Given the description of an element on the screen output the (x, y) to click on. 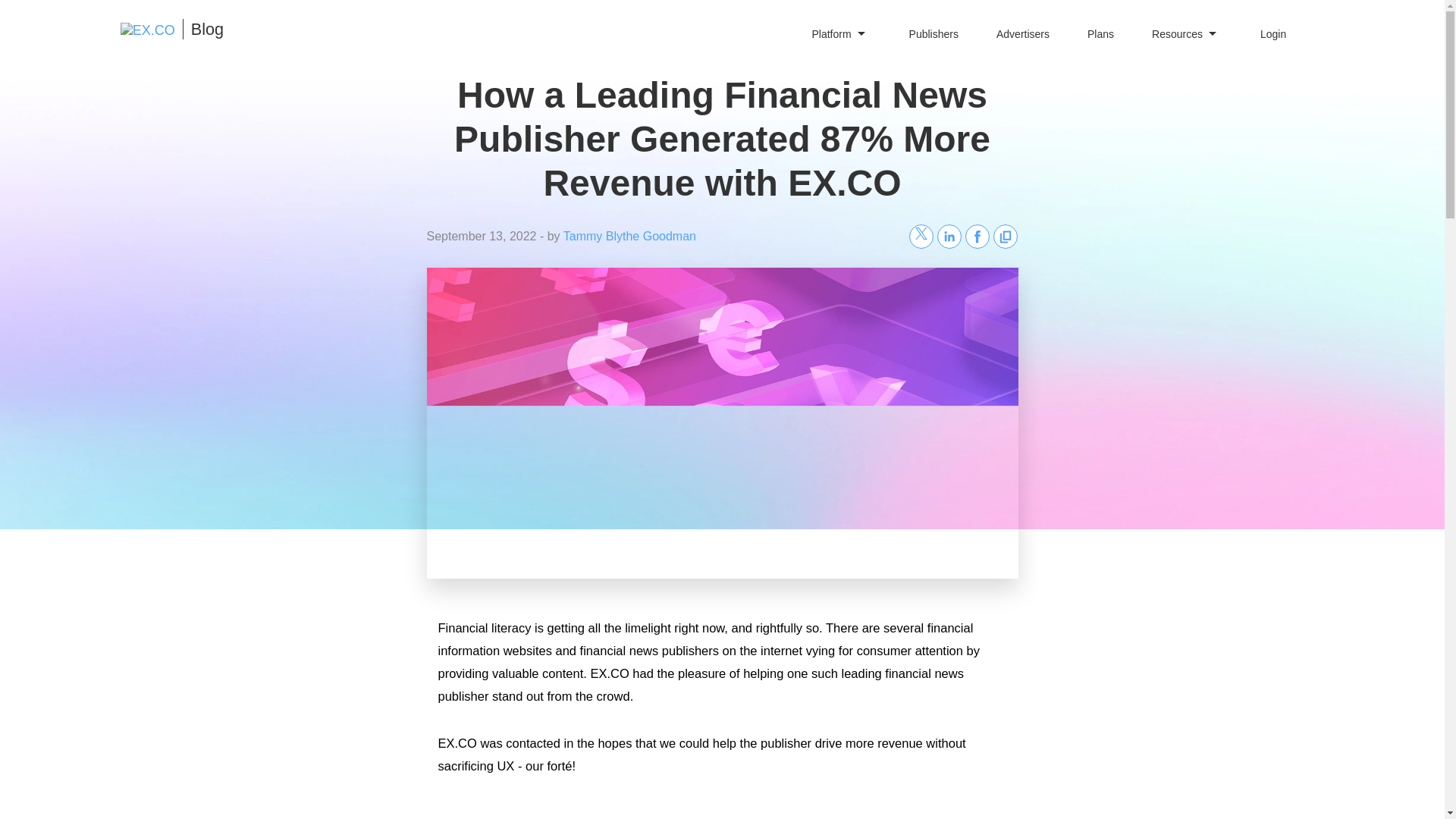
Resources (1187, 33)
EX.CO Home (147, 30)
Share on LinkedIn (948, 236)
Advertisers (1022, 33)
Platform (840, 33)
Tammy Blythe Goodman (629, 236)
Share on X (920, 236)
Publishers (933, 33)
Blog (203, 28)
